Given the description of an element on the screen output the (x, y) to click on. 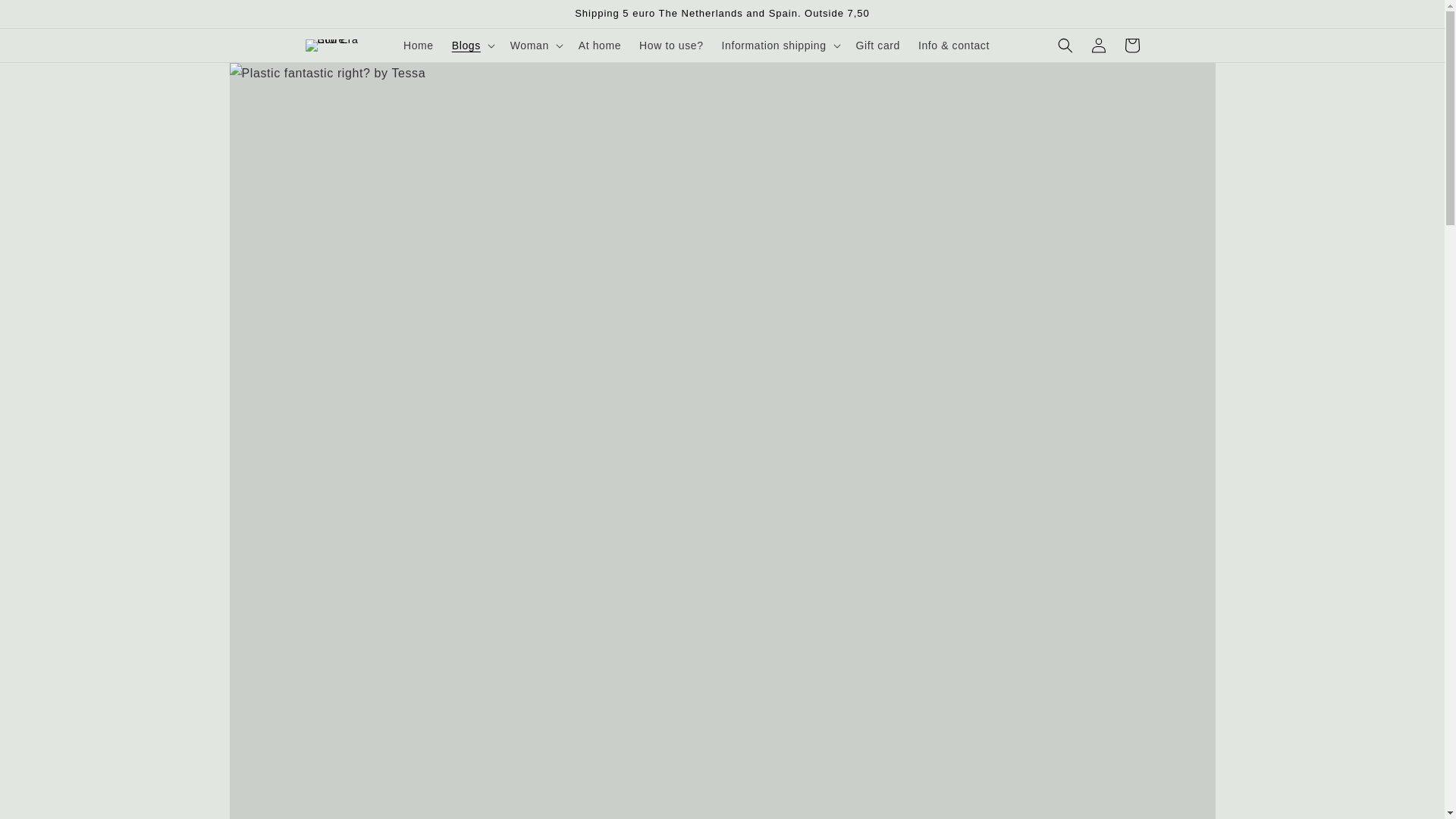
Skip to content (46, 18)
Home (418, 45)
